Given the description of an element on the screen output the (x, y) to click on. 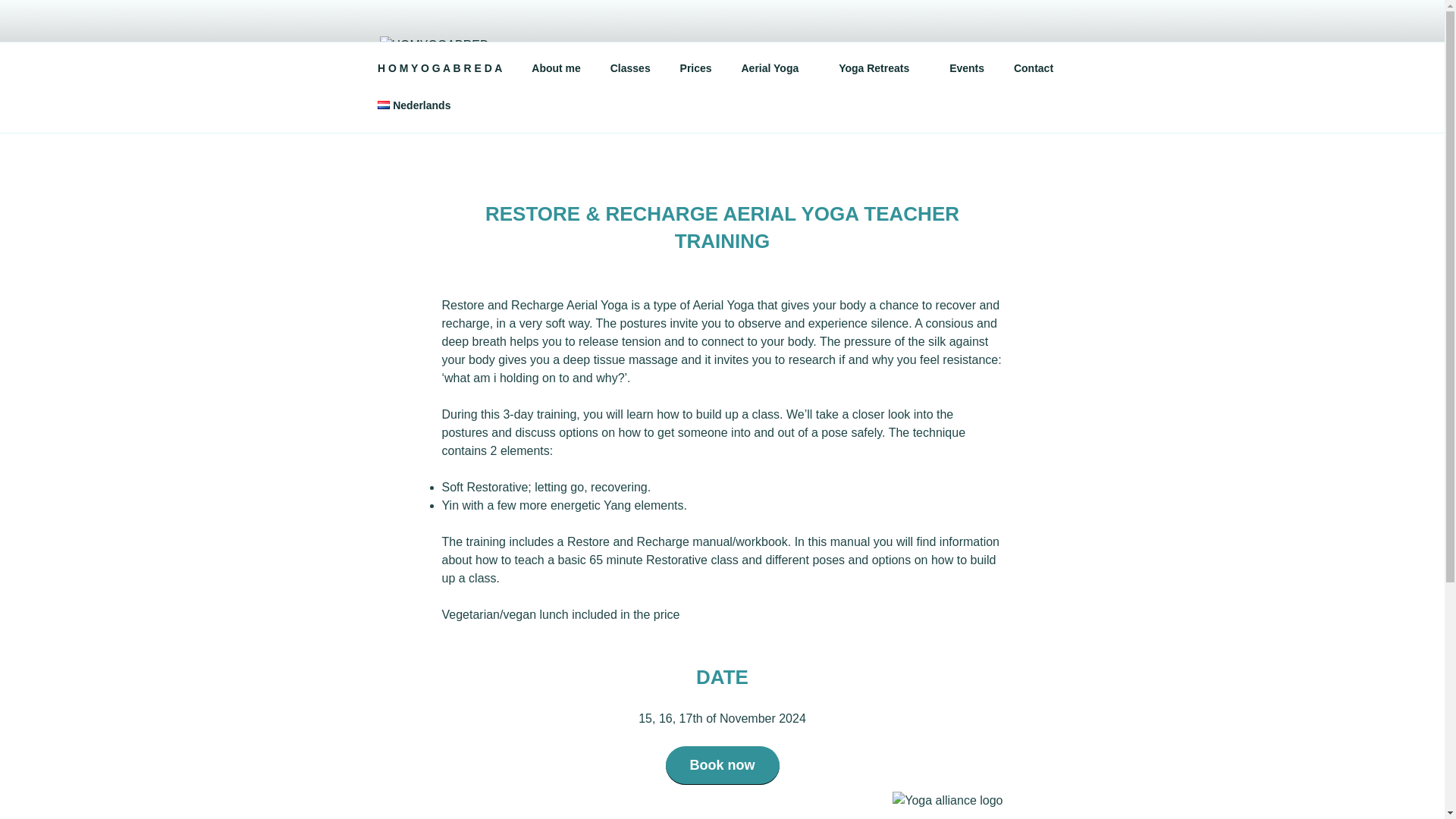
Contact (1032, 67)
Events (966, 67)
Classes (629, 67)
Nederlands (413, 105)
Aerial Yoga (775, 67)
Book now (721, 765)
Prices (695, 67)
HOMYOGABREDA (650, 57)
Yoga Retreats (879, 67)
H O M Y O G A B R E D A (439, 67)
About me (556, 67)
